Given the description of an element on the screen output the (x, y) to click on. 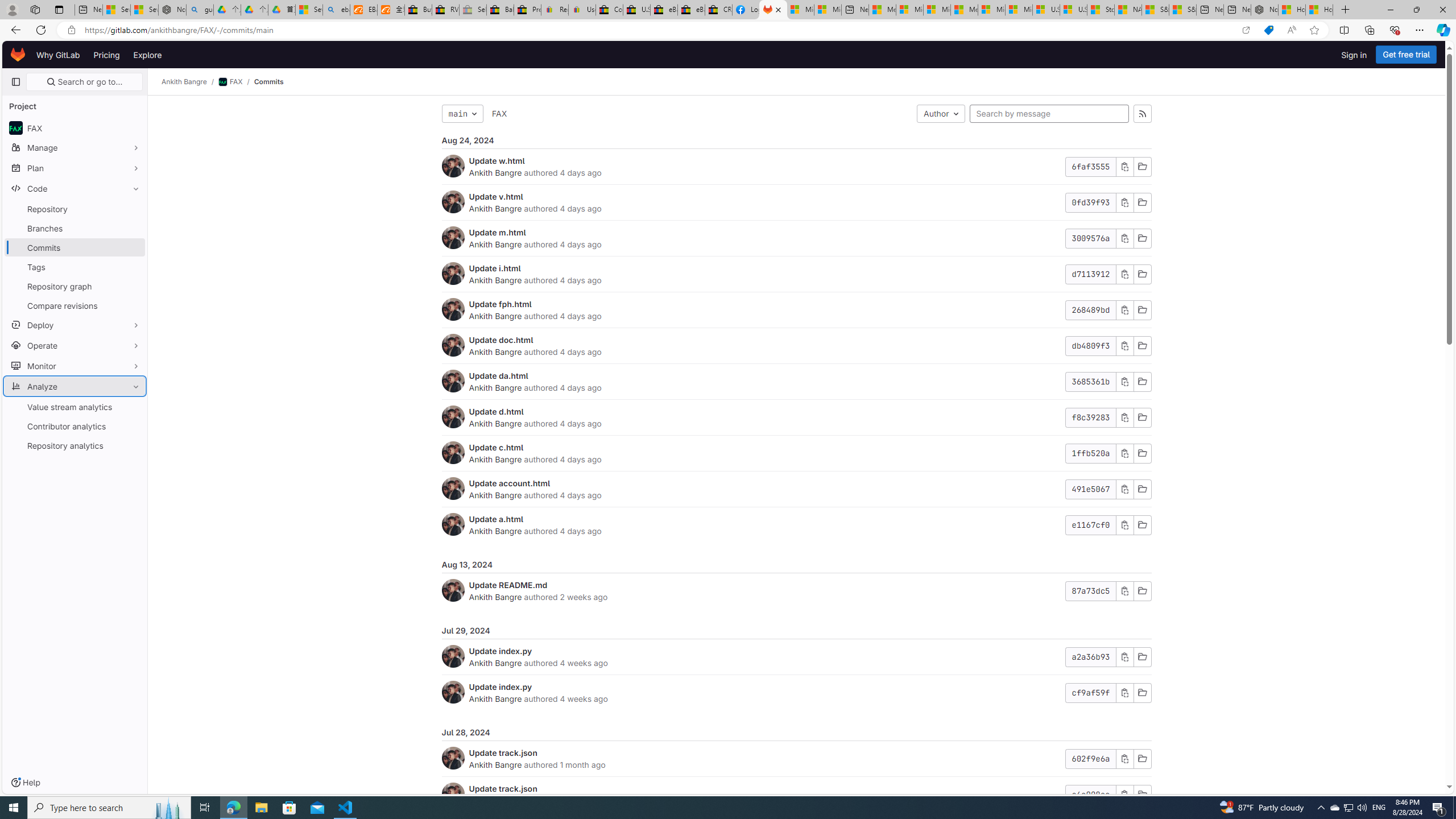
Update README.md (507, 584)
Aug 13, 2024 (796, 564)
Update m.html (496, 232)
